Given the description of an element on the screen output the (x, y) to click on. 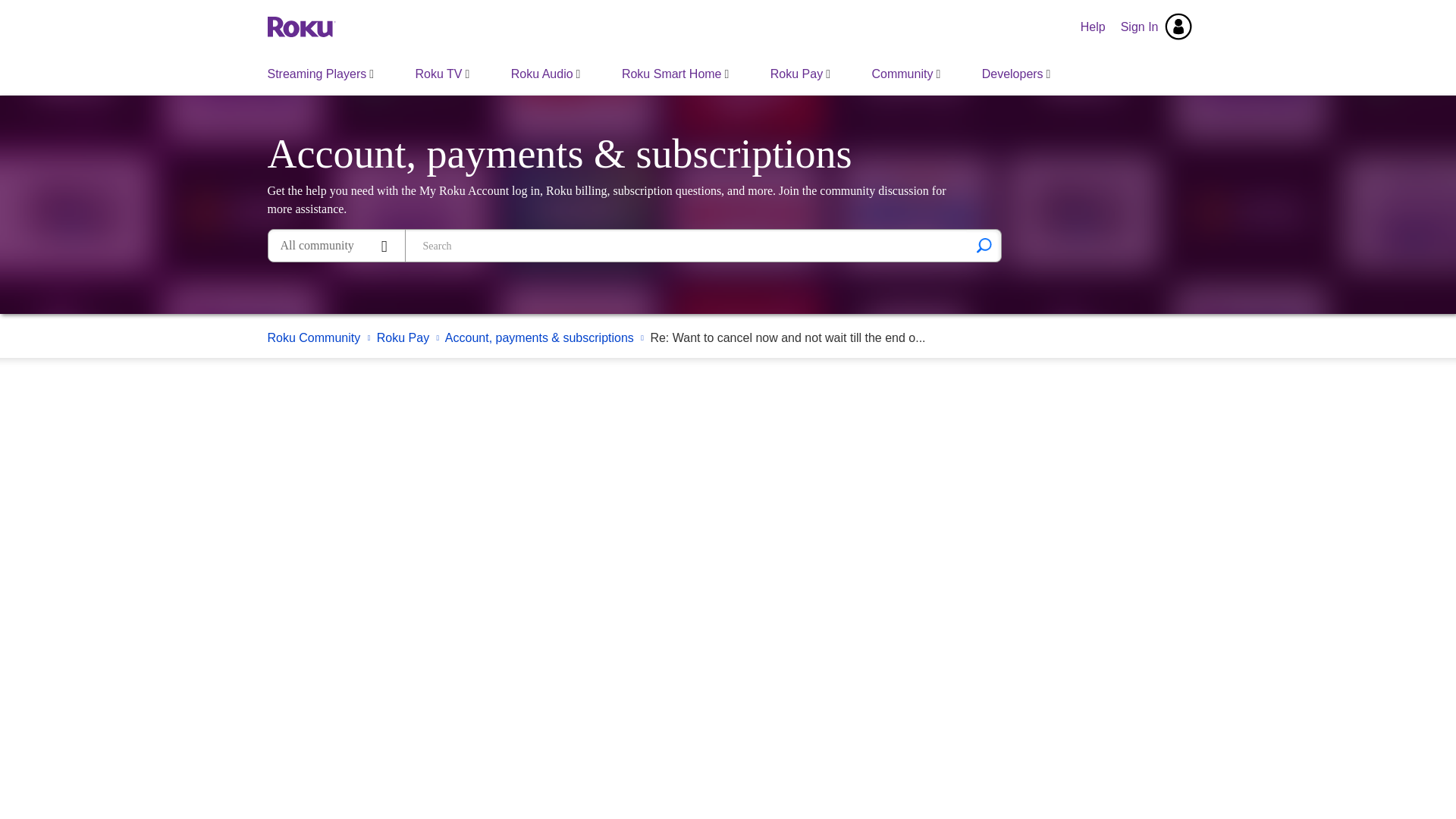
Roku Community (300, 26)
Help (1093, 26)
Roku Pay (799, 73)
Search (983, 245)
Search (983, 245)
Roku Audio (545, 73)
Community (905, 73)
Streaming Players (320, 73)
Developers (1016, 73)
Search (686, 245)
